Given the description of an element on the screen output the (x, y) to click on. 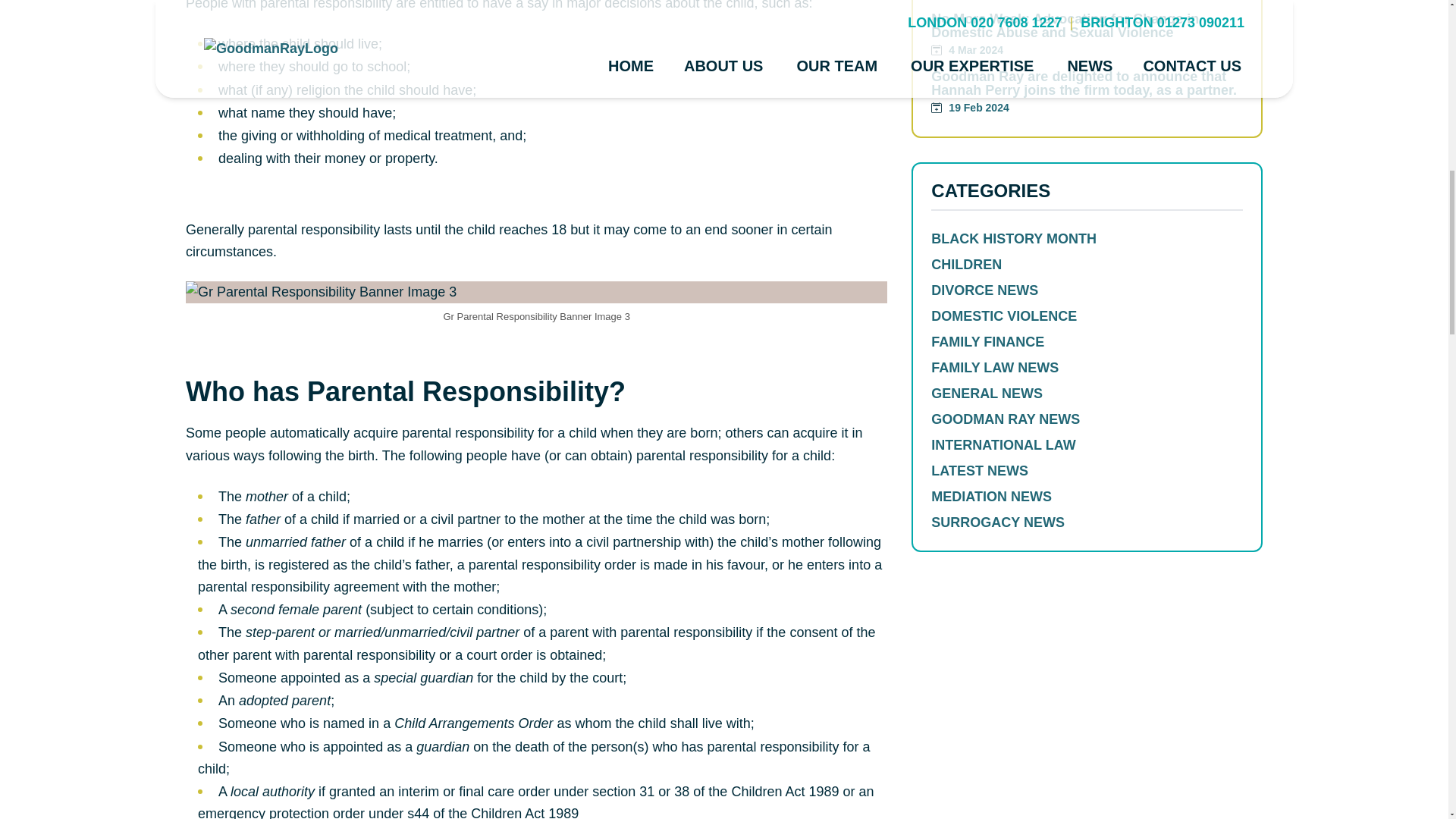
View all posts in Domestic Violence (1087, 315)
View all posts in General News (1087, 393)
View all posts in Divorce News (1087, 290)
View all posts in Goodman Ray News (1087, 418)
View all posts in Children (1087, 264)
View all posts in Family Finance (1087, 341)
View all posts in Black History Month (1087, 238)
View all posts in Family Law News (1087, 367)
